Given the description of an element on the screen output the (x, y) to click on. 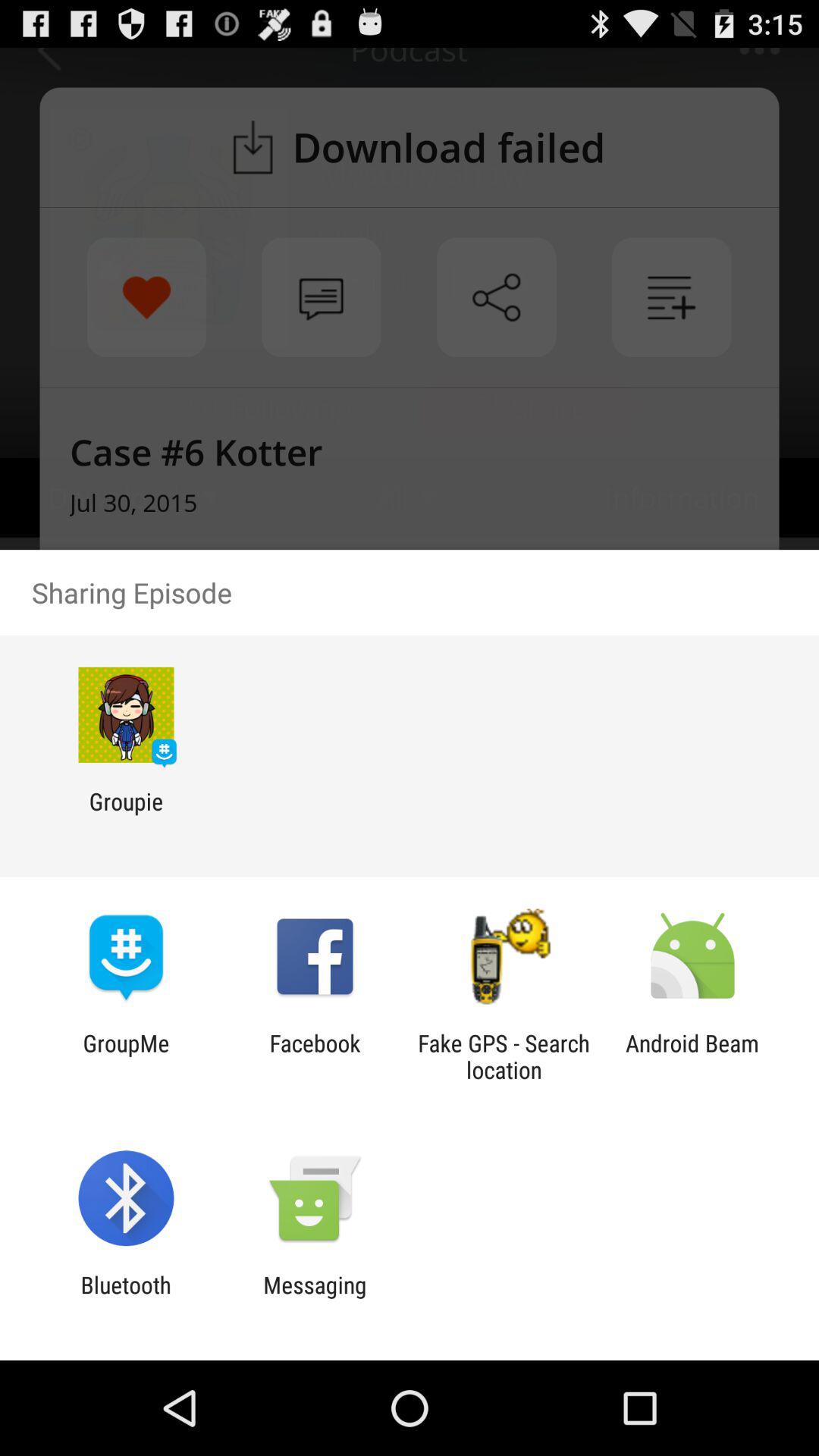
jump until facebook item (314, 1056)
